Given the description of an element on the screen output the (x, y) to click on. 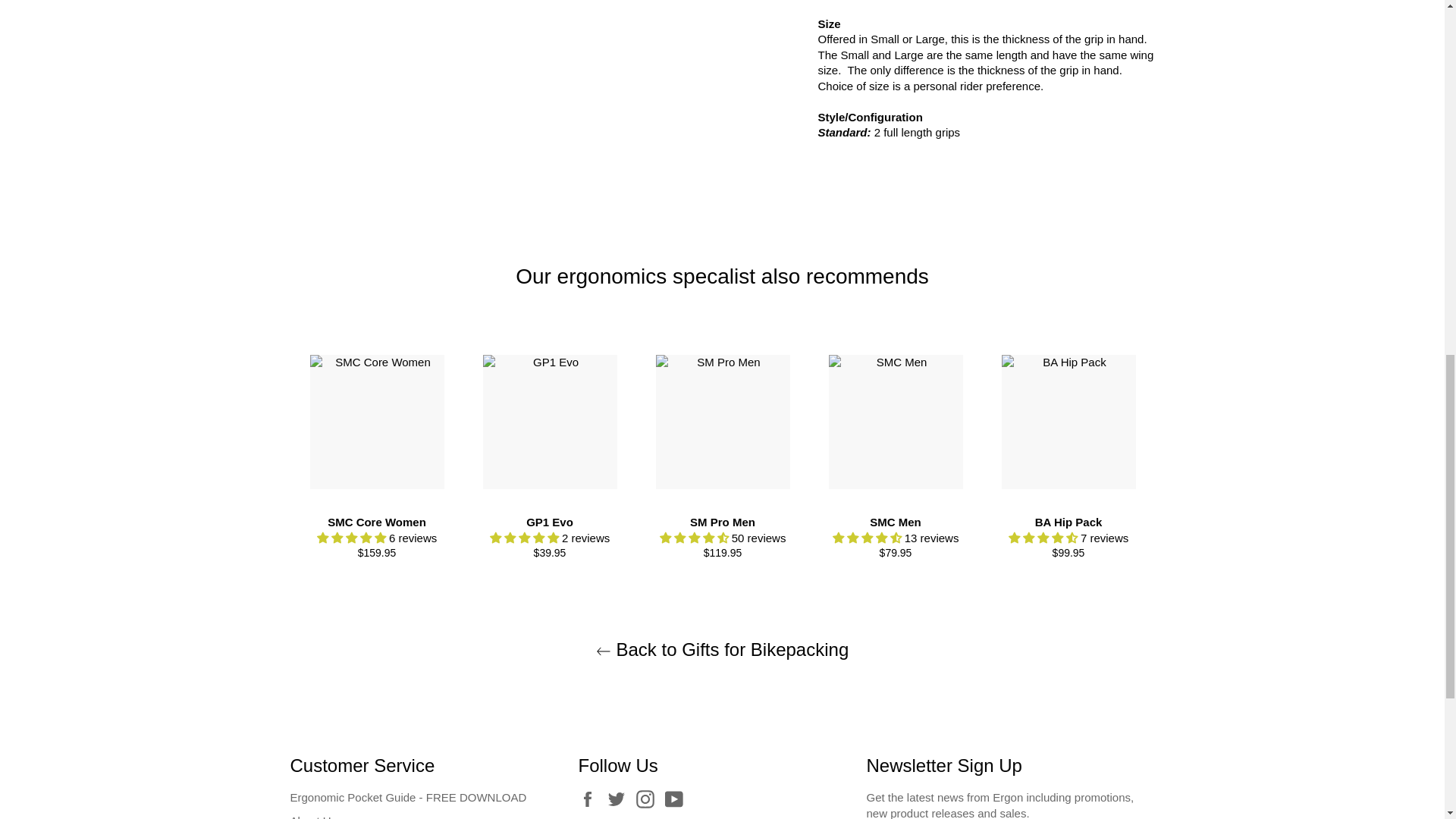
Ergon Bike on YouTube (677, 799)
Ergon Bike on Facebook (591, 799)
Ergon Bike on Instagram (649, 799)
Ergon Bike on Twitter (620, 799)
